Given the description of an element on the screen output the (x, y) to click on. 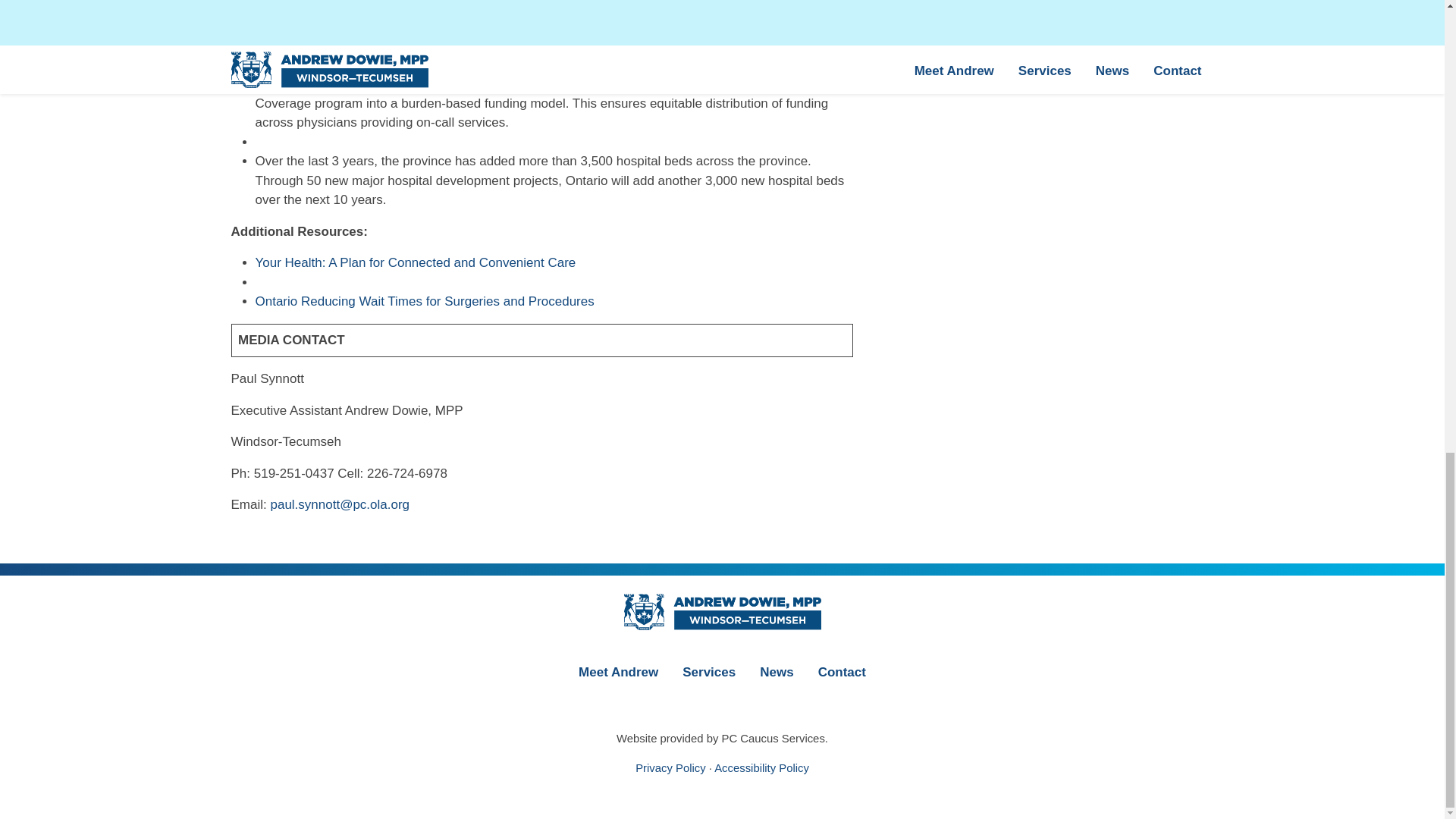
Your Health: A Plan for Connected and Convenient Care (414, 262)
Ontario Reducing Wait Times for Surgeries and Procedures (424, 301)
Accessibility Policy (761, 767)
News (776, 671)
Services (708, 671)
Privacy Policy (669, 767)
Meet Andrew (617, 671)
Contact (841, 671)
